Given the description of an element on the screen output the (x, y) to click on. 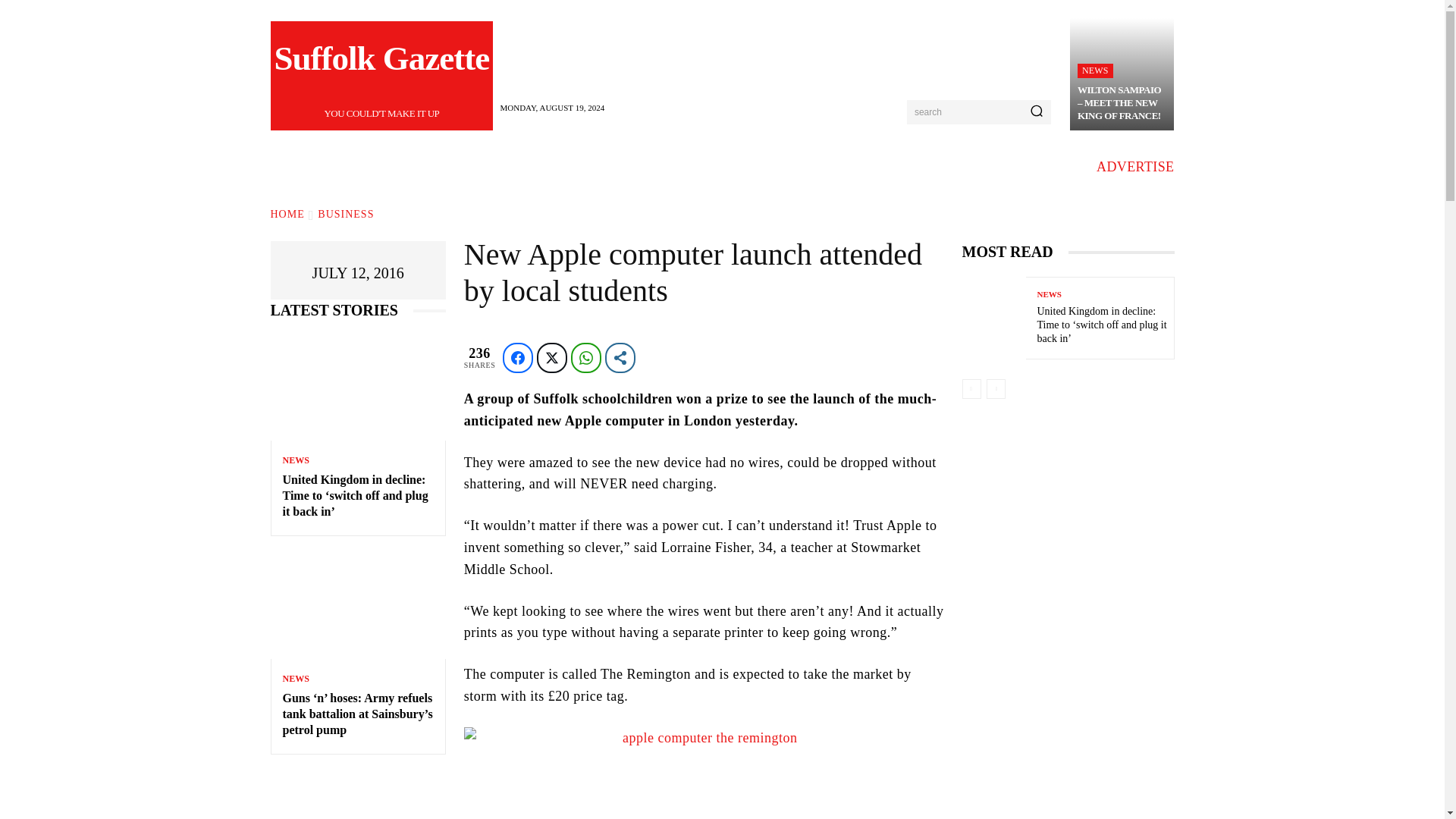
NEWS (382, 76)
HOME (1095, 70)
ADVERTISE (286, 214)
View all posts in Business (1135, 166)
